Given the description of an element on the screen output the (x, y) to click on. 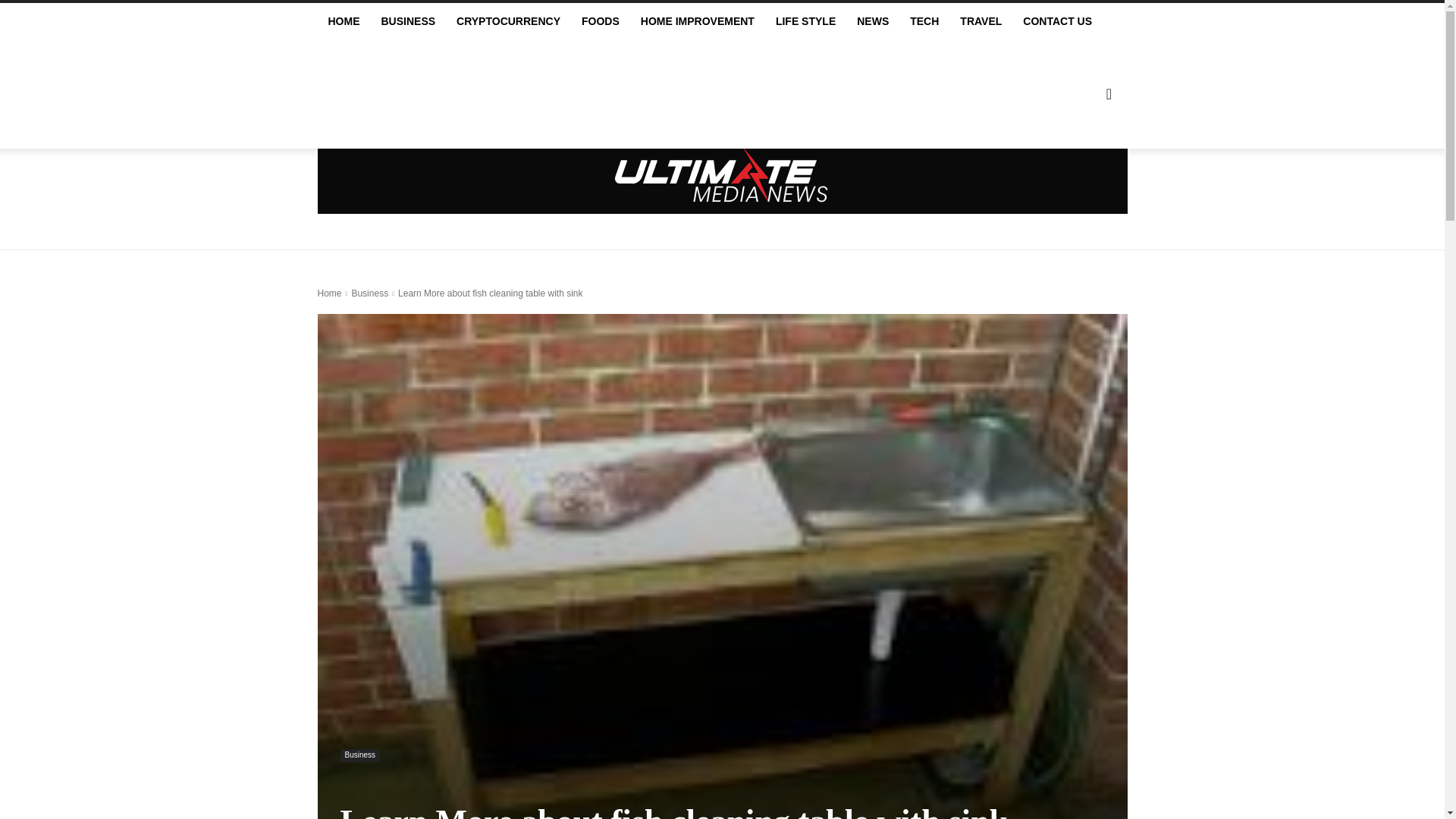
LIFE STYLE (805, 21)
NEWS (872, 21)
TECH (924, 21)
CRYPTOCURRENCY (507, 21)
CONTACT US (1056, 21)
BUSINESS (407, 21)
FOODS (600, 21)
TRAVEL (980, 21)
HOME IMPROVEMENT (697, 21)
Home (328, 293)
